Given the description of an element on the screen output the (x, y) to click on. 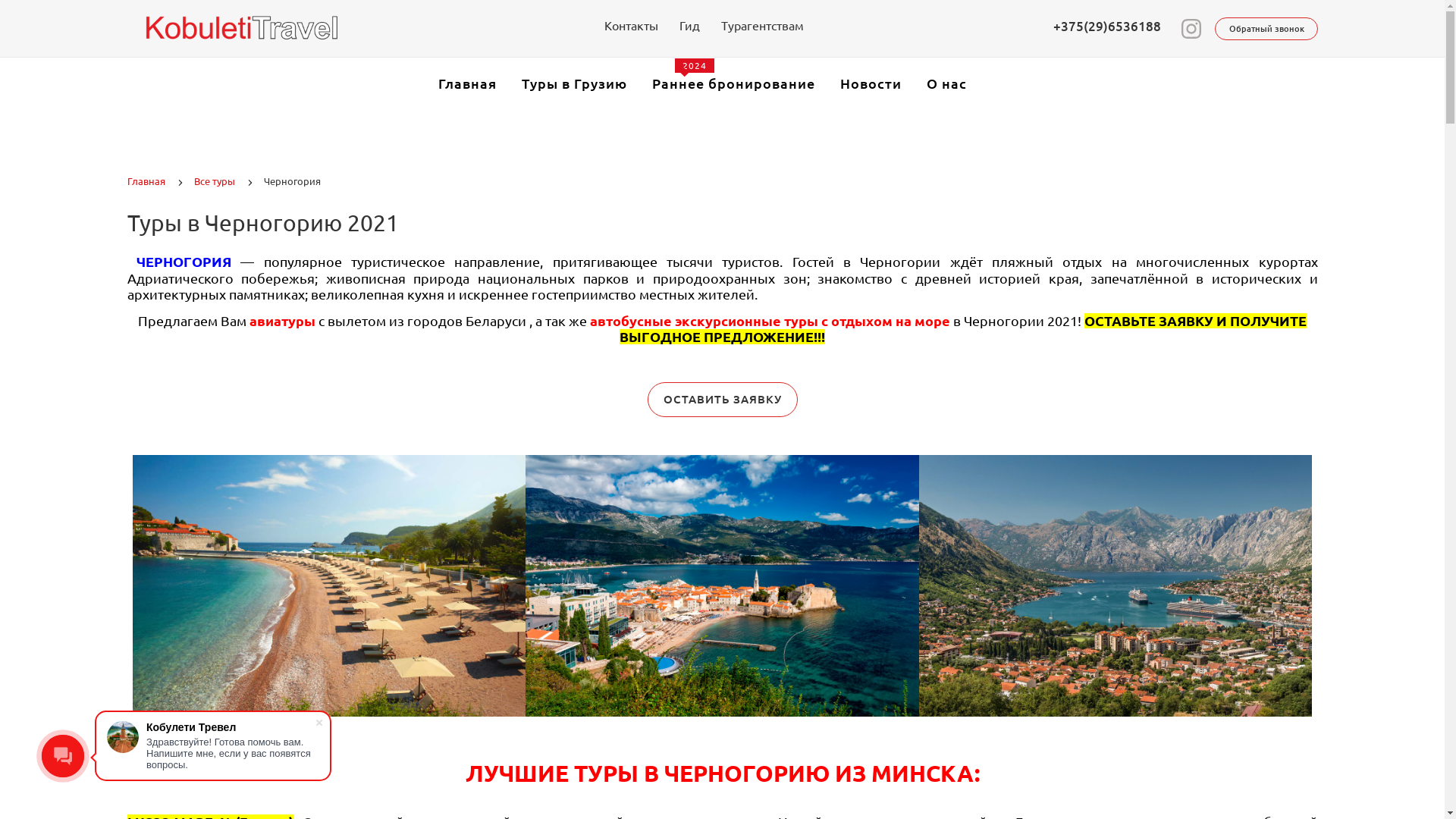
+375(29)6536188 Element type: text (1106, 25)
